Given the description of an element on the screen output the (x, y) to click on. 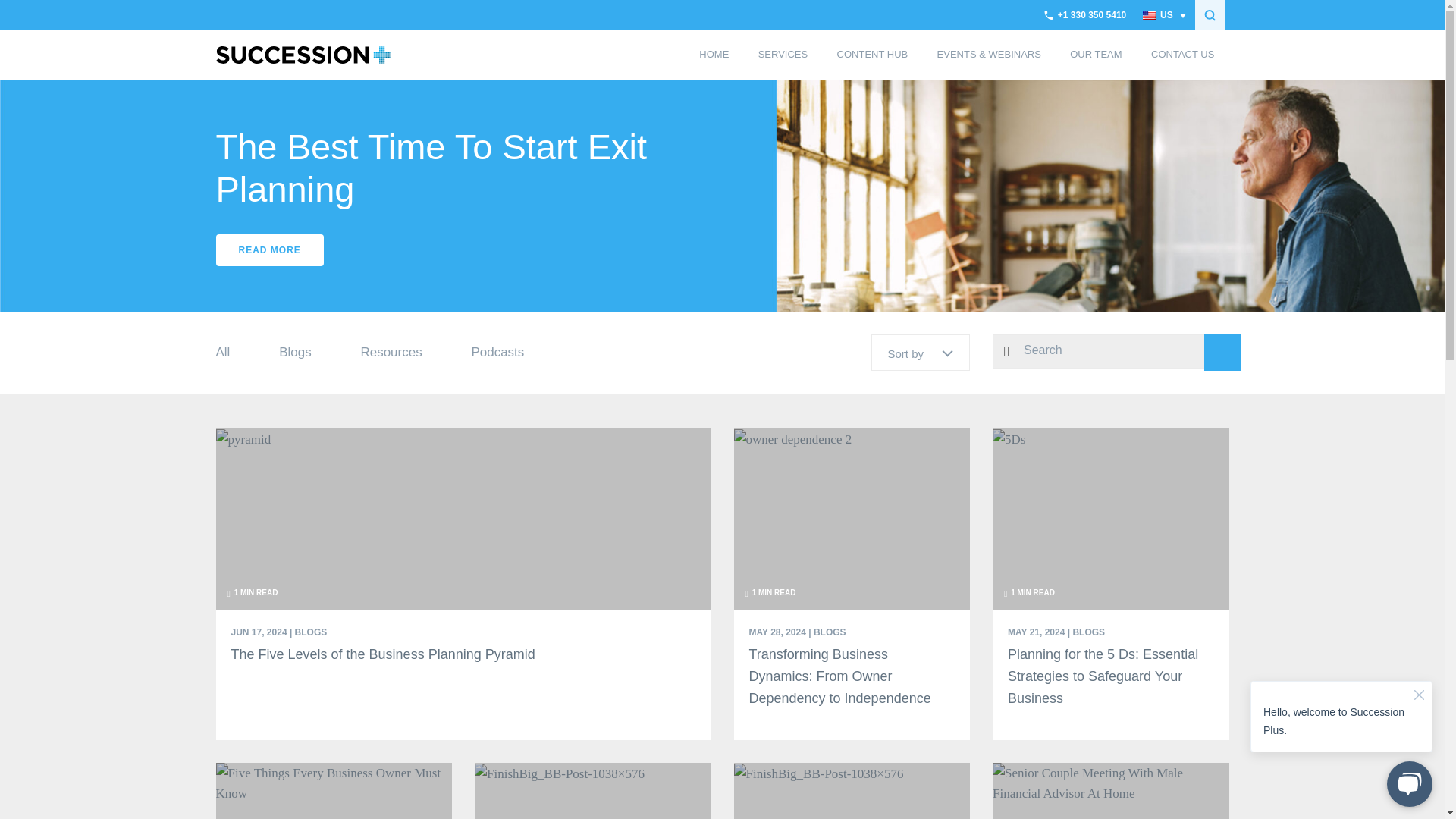
pyramid (242, 439)
Senior Couple Meeting With Male Financial Advisor At Home (1110, 782)
OUR TEAM (1096, 54)
SERVICES (782, 54)
READ MORE (269, 250)
HOME (713, 54)
Resources (390, 351)
All (222, 351)
Five Things Every Business Owner Must Know (333, 782)
US (1163, 15)
CONTENT HUB (871, 54)
owner dependence 2 (792, 439)
CONTACT US (1182, 54)
Podcasts (497, 351)
5Ds (1008, 439)
